Given the description of an element on the screen output the (x, y) to click on. 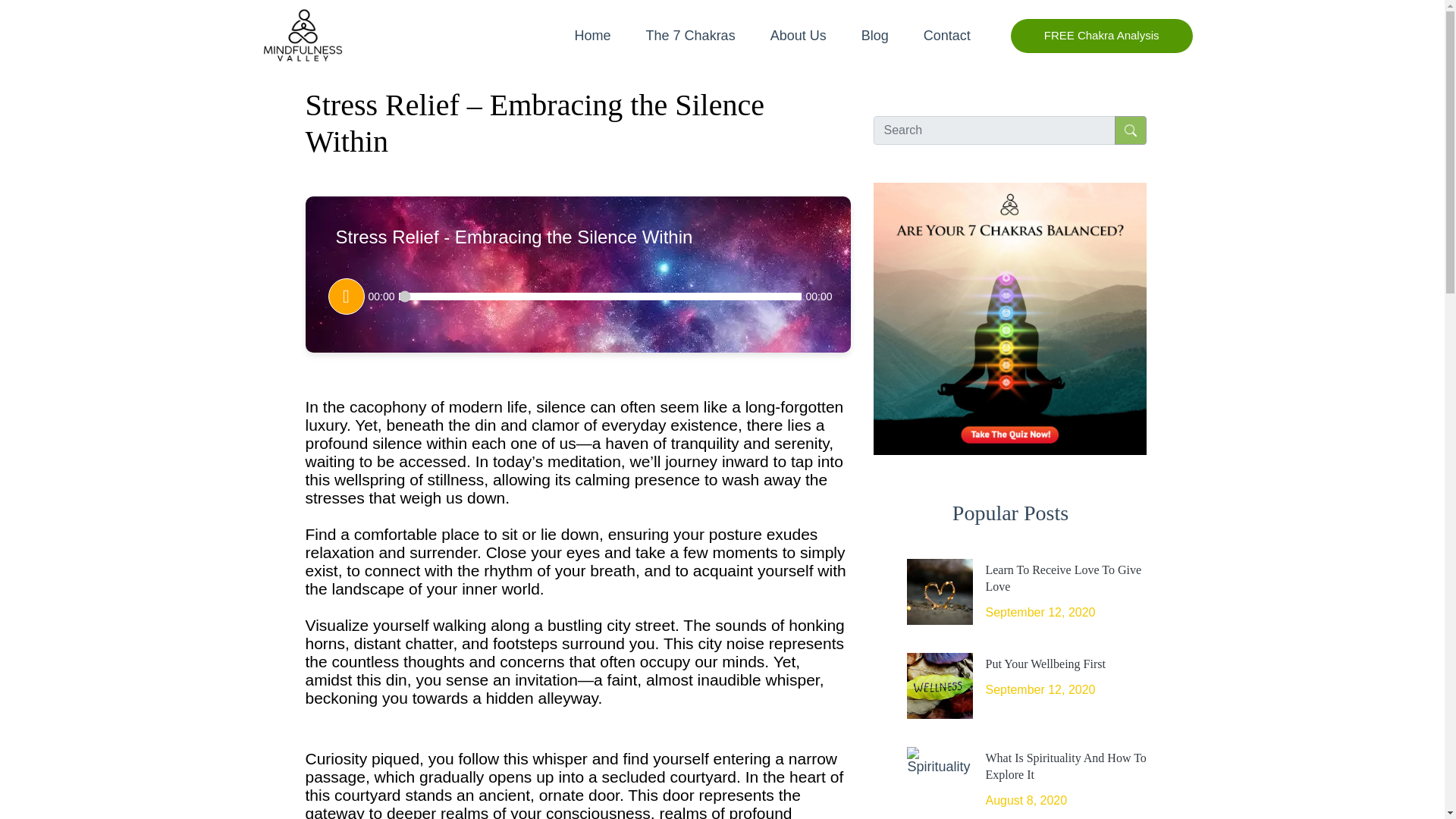
About Us (798, 35)
FREE Chakra Analysis (1101, 35)
Learn To Receive Love To Give Love (1063, 577)
Put Your Wellbeing First (1045, 663)
Contact (946, 35)
The 7 Chakras (690, 35)
Home (592, 35)
What Is Spirituality And How To Explore It (1065, 766)
0 (600, 296)
Blog (874, 35)
